Given the description of an element on the screen output the (x, y) to click on. 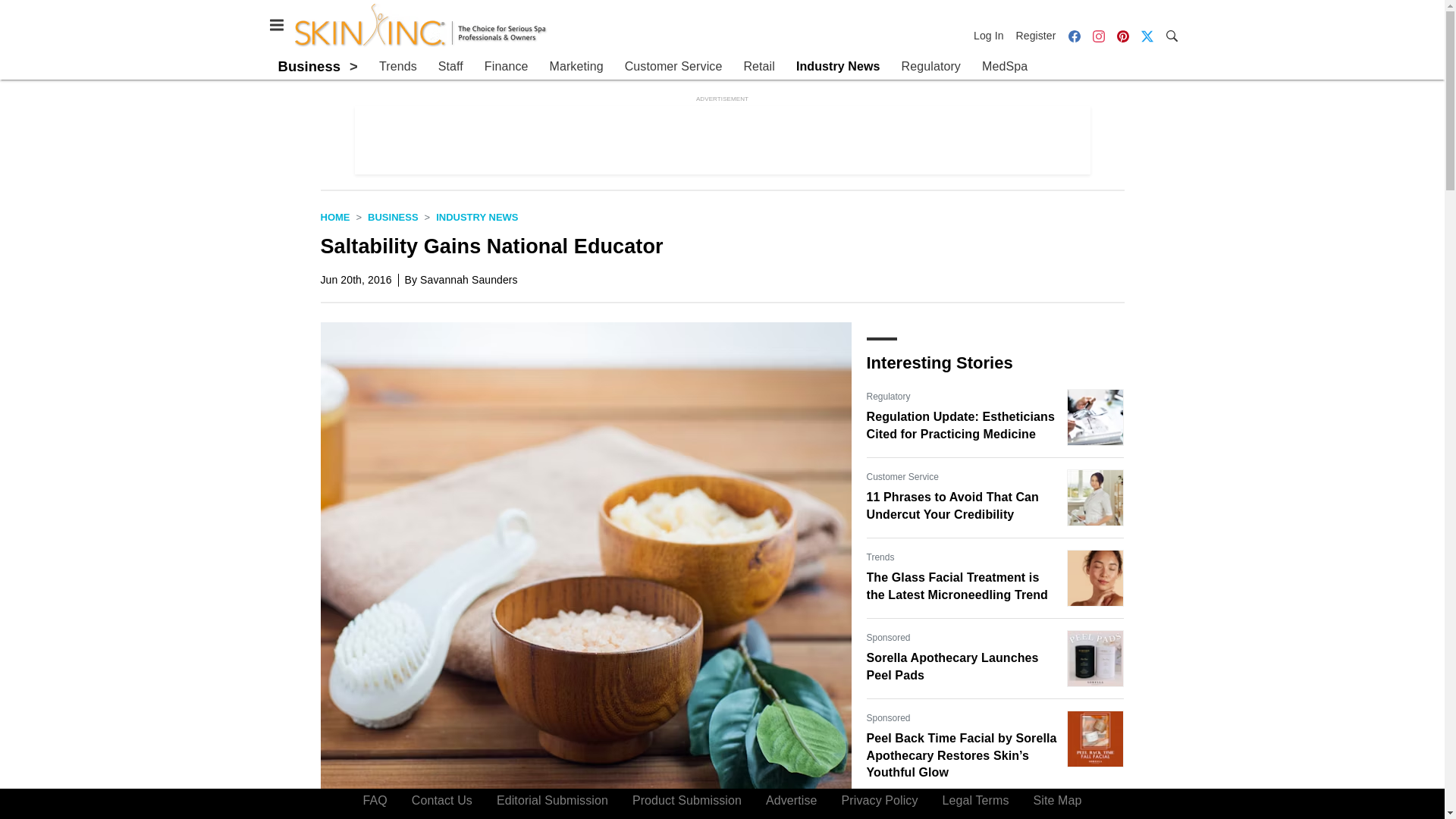
Twitter X icon (1146, 36)
Retail (758, 66)
3rd party ad content (722, 140)
Industry News (476, 216)
Staff (450, 66)
Customer Service (673, 66)
Register (1036, 35)
Home (334, 216)
Pinterest icon (1121, 35)
MedSpa (1004, 66)
